Given the description of an element on the screen output the (x, y) to click on. 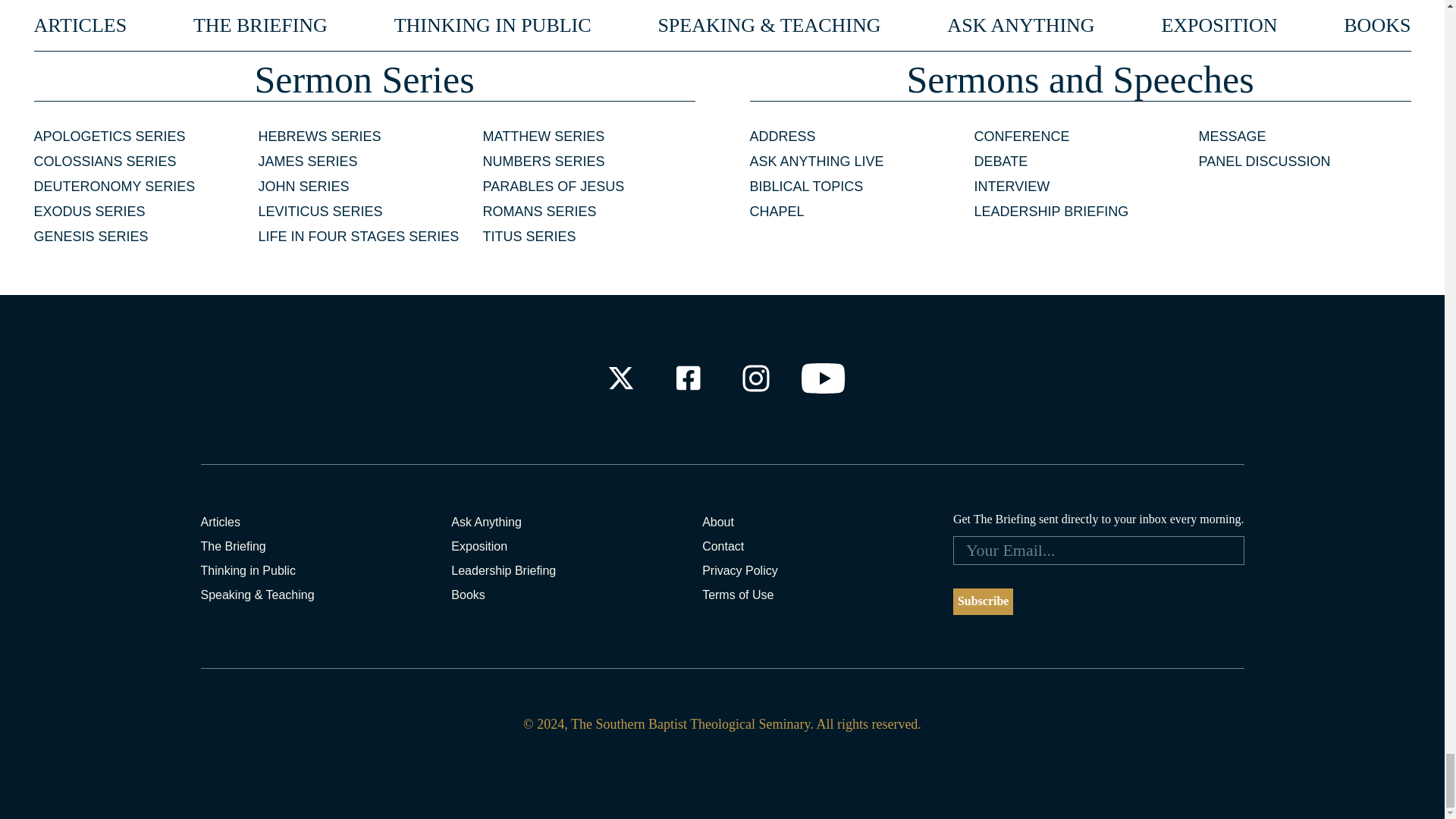
Check out our Facebook Profile (687, 377)
Check out our Instagram Profile (755, 377)
Check out our Youtube Channel (822, 377)
Subscribe (983, 601)
Check out our X Profile (620, 377)
